Given the description of an element on the screen output the (x, y) to click on. 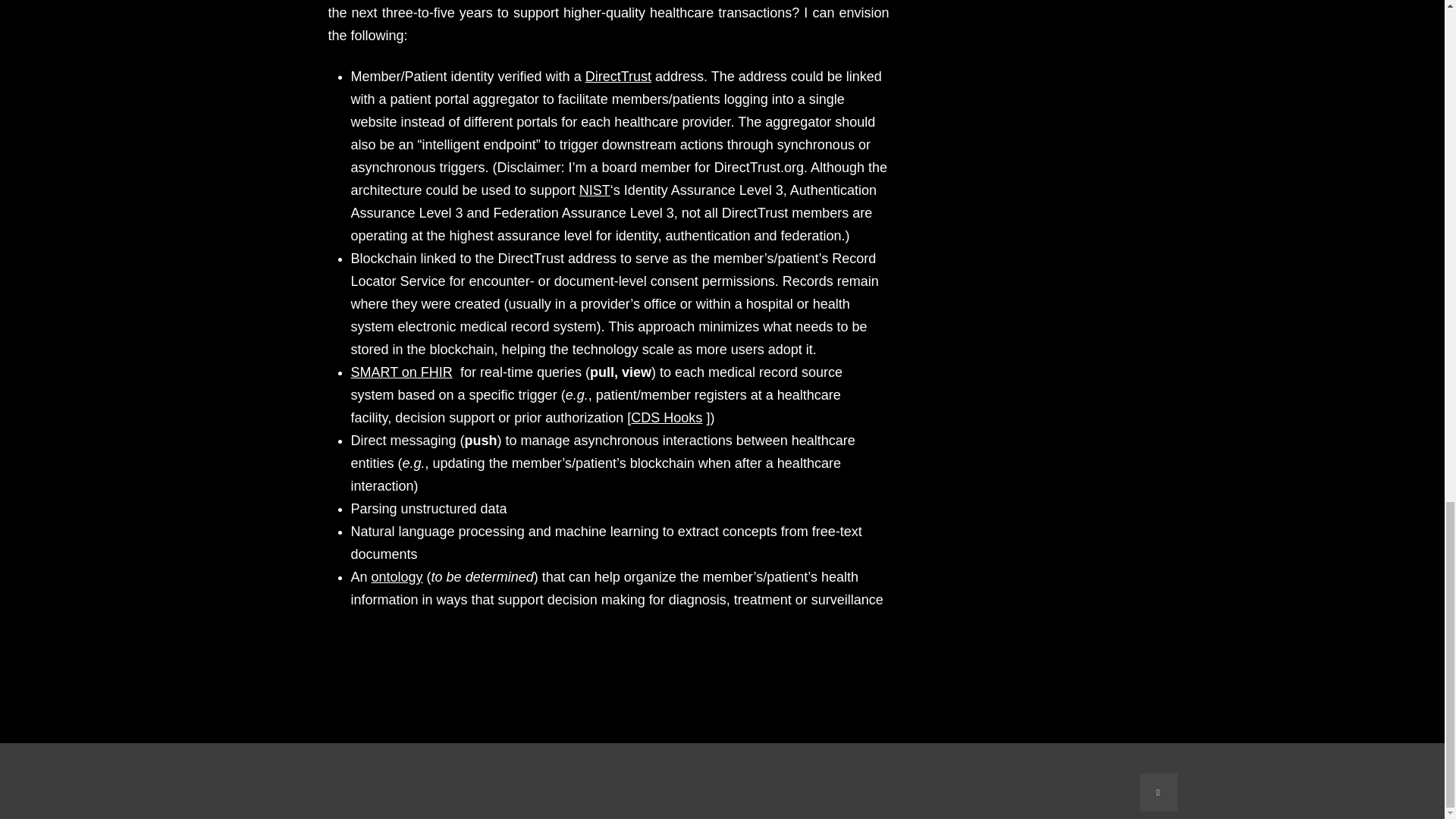
SMART on FHIR (400, 372)
NIST (594, 190)
ontology (397, 576)
DirectTrust (617, 76)
CDS Hooks (665, 417)
BACK TO THE TOP (1157, 792)
